Given the description of an element on the screen output the (x, y) to click on. 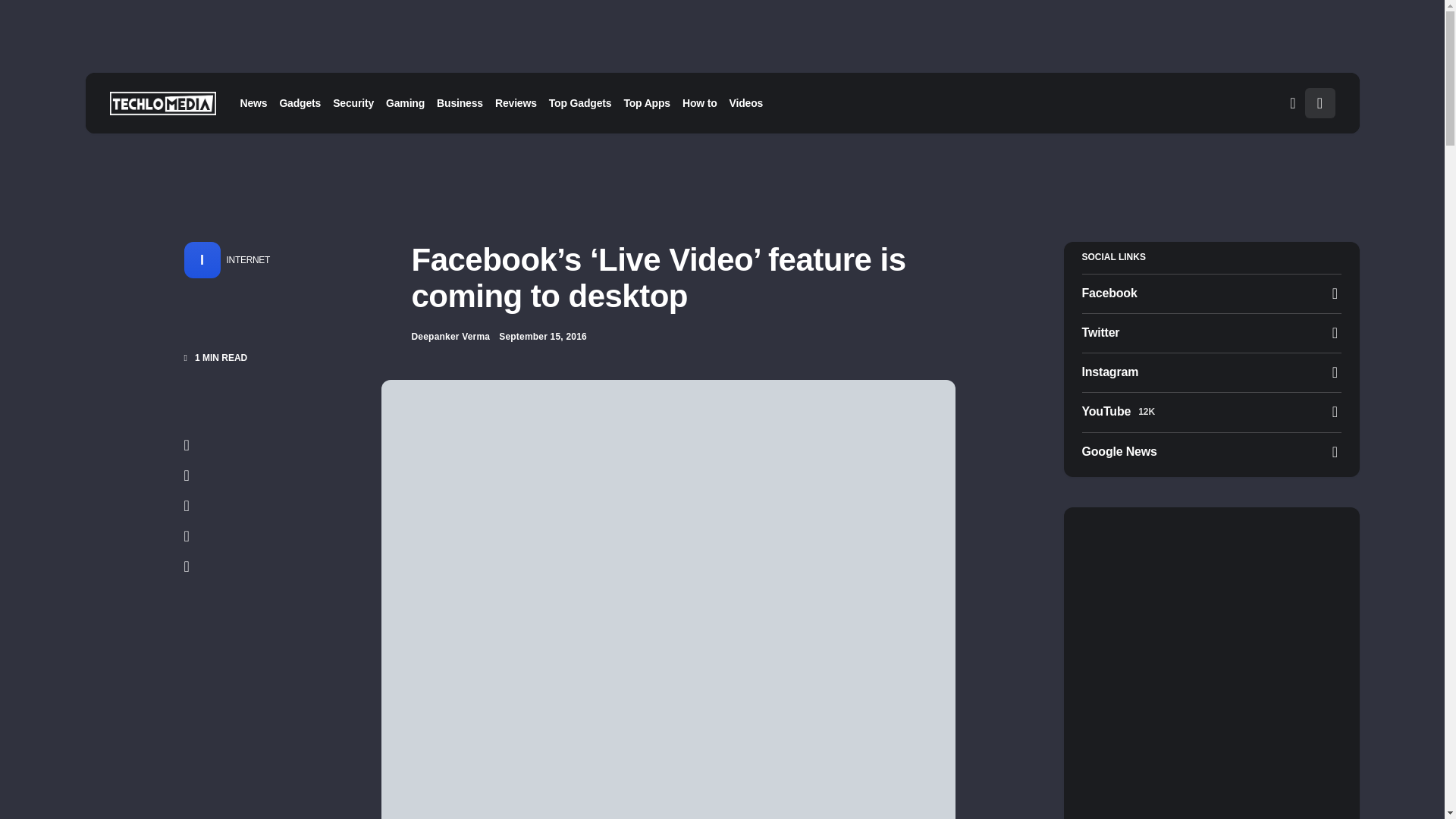
INTERNET (244, 259)
Top Apps (647, 102)
View all posts by Deepanker Verma (449, 336)
Top Gadgets (580, 102)
I (201, 259)
Business (459, 102)
Deepanker Verma (449, 336)
